Given the description of an element on the screen output the (x, y) to click on. 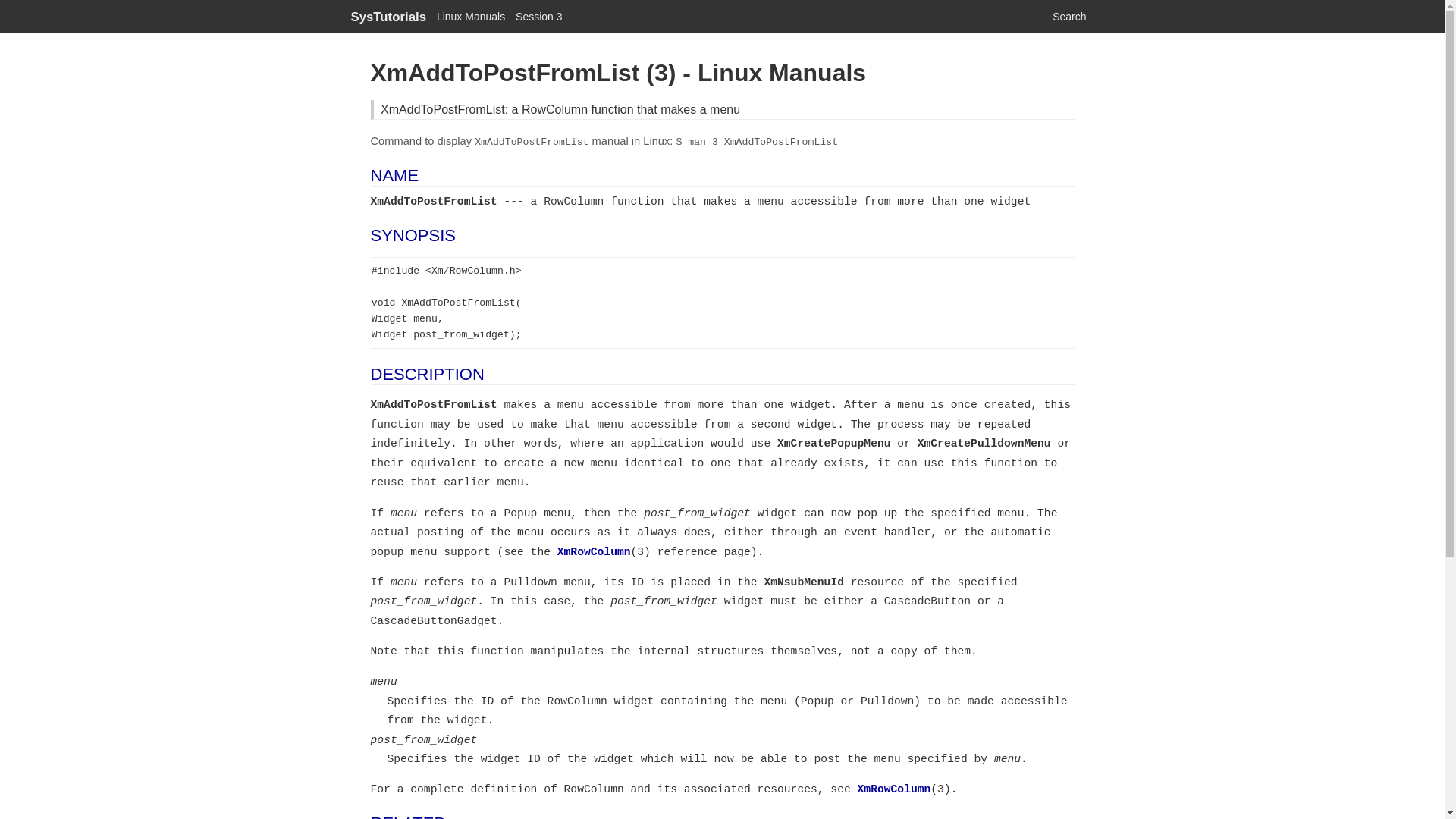
Session 3 (538, 16)
Linux Manuals (470, 16)
Search (1069, 16)
SysTutorials (387, 16)
XmRowColumn (894, 788)
XmRowColumn (593, 551)
